Given the description of an element on the screen output the (x, y) to click on. 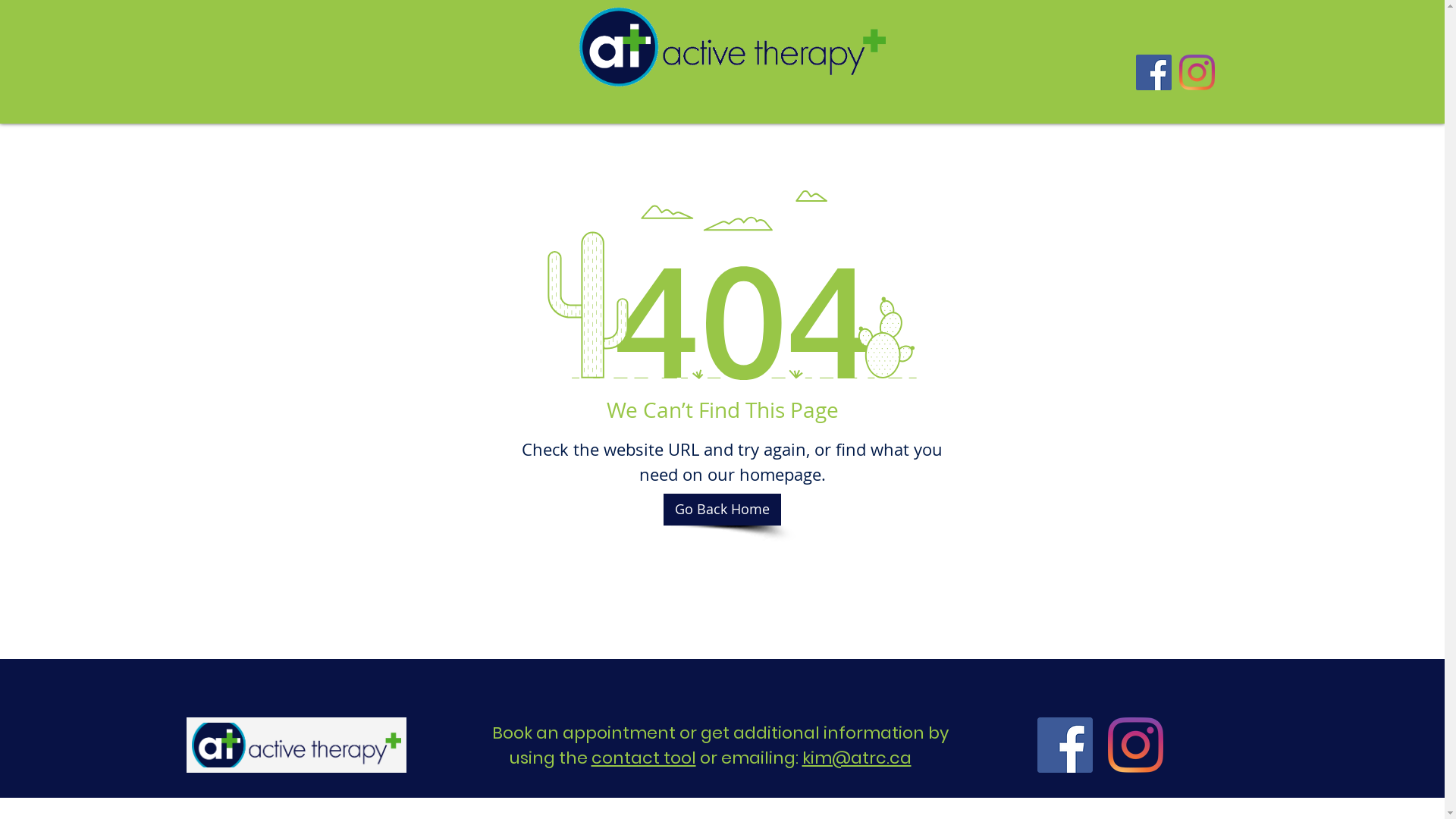
Go Back Home Element type: text (721, 509)
kim@atrc.ca Element type: text (856, 757)
contact tool Element type: text (643, 757)
